Given the description of an element on the screen output the (x, y) to click on. 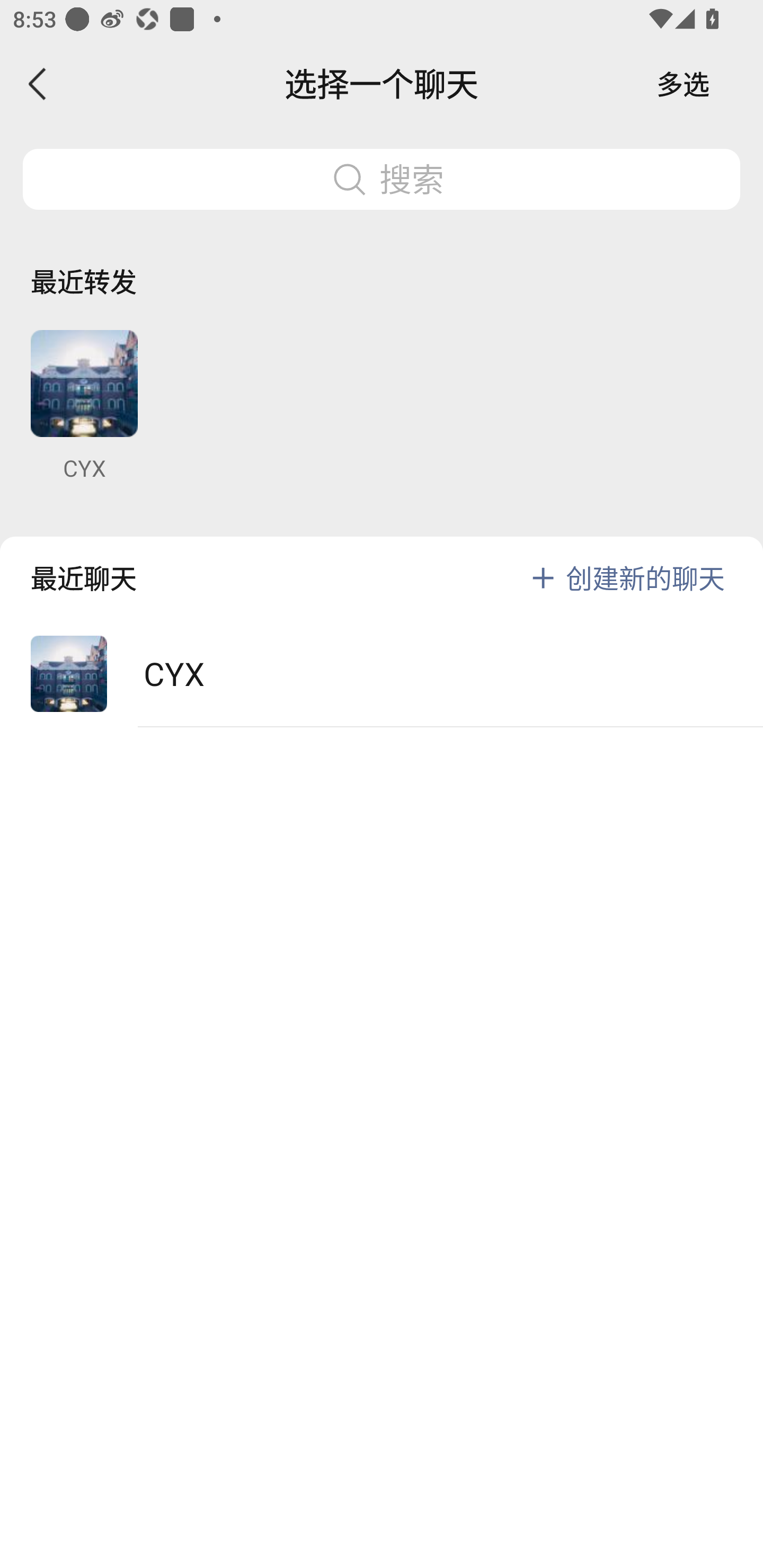
返回 (38, 83)
多选 (683, 83)
CYX (84, 405)
创建新的聊天 (645, 577)
CYX (381, 673)
